Given the description of an element on the screen output the (x, y) to click on. 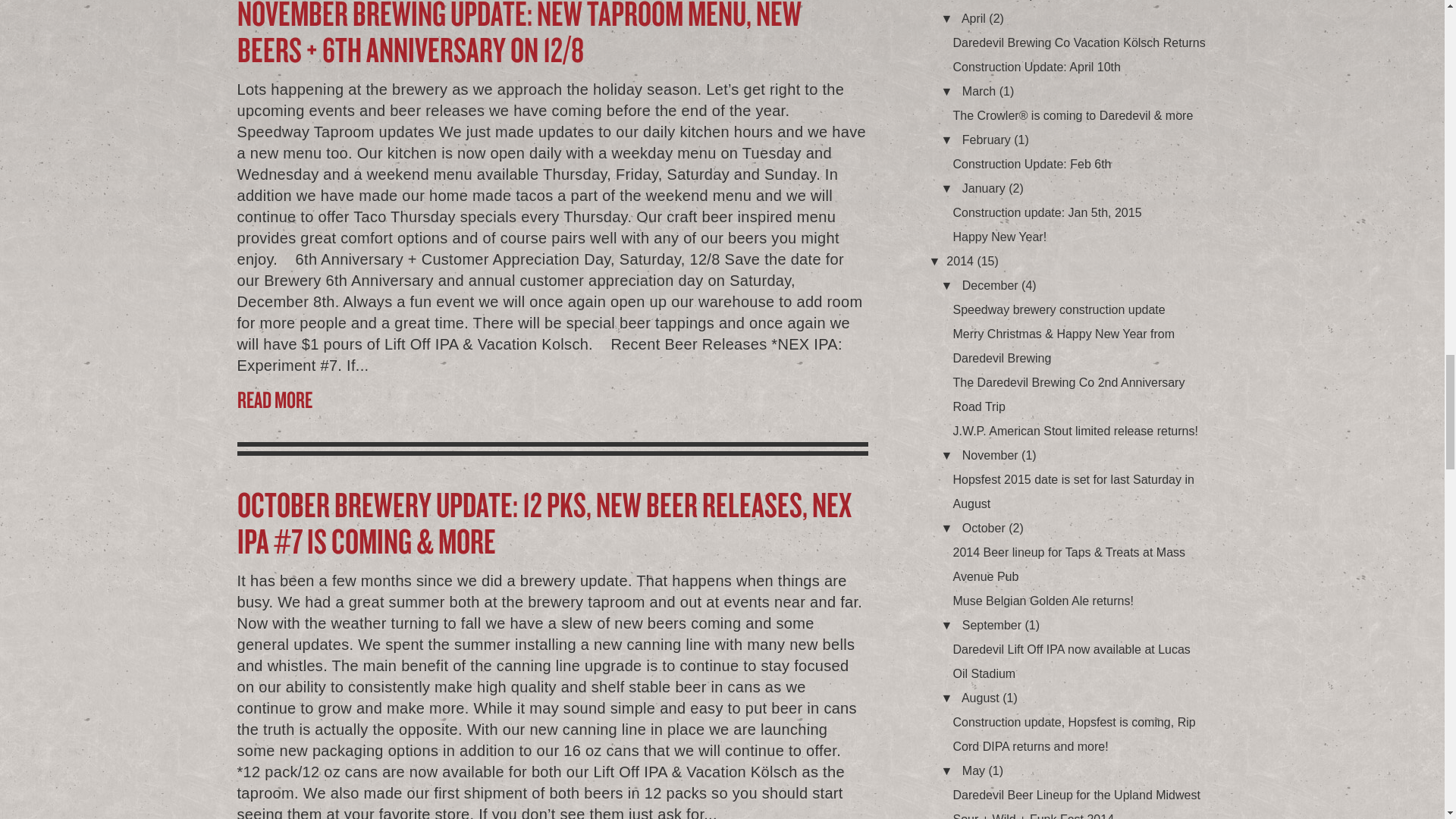
READ MORE (551, 399)
